Given the description of an element on the screen output the (x, y) to click on. 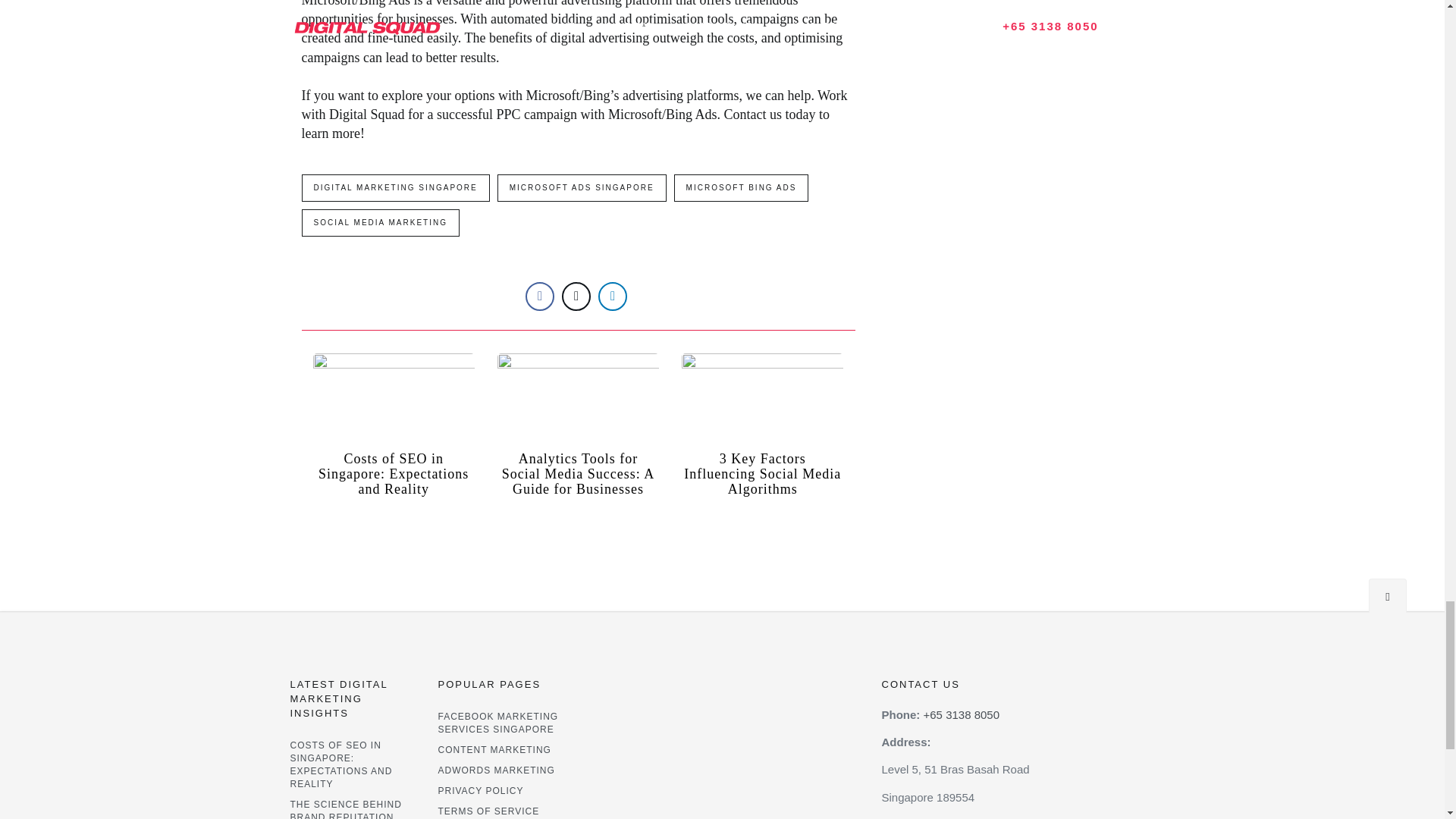
Costs of SEO in Singapore: Expectations and Reality (393, 473)
3 Key Factors Influencing Social Media Algorithms (762, 397)
Costs of SEO in Singapore: Expectations and Reality (393, 397)
3 Key Factors Influencing Social Media Algorithms (762, 473)
